Given the description of an element on the screen output the (x, y) to click on. 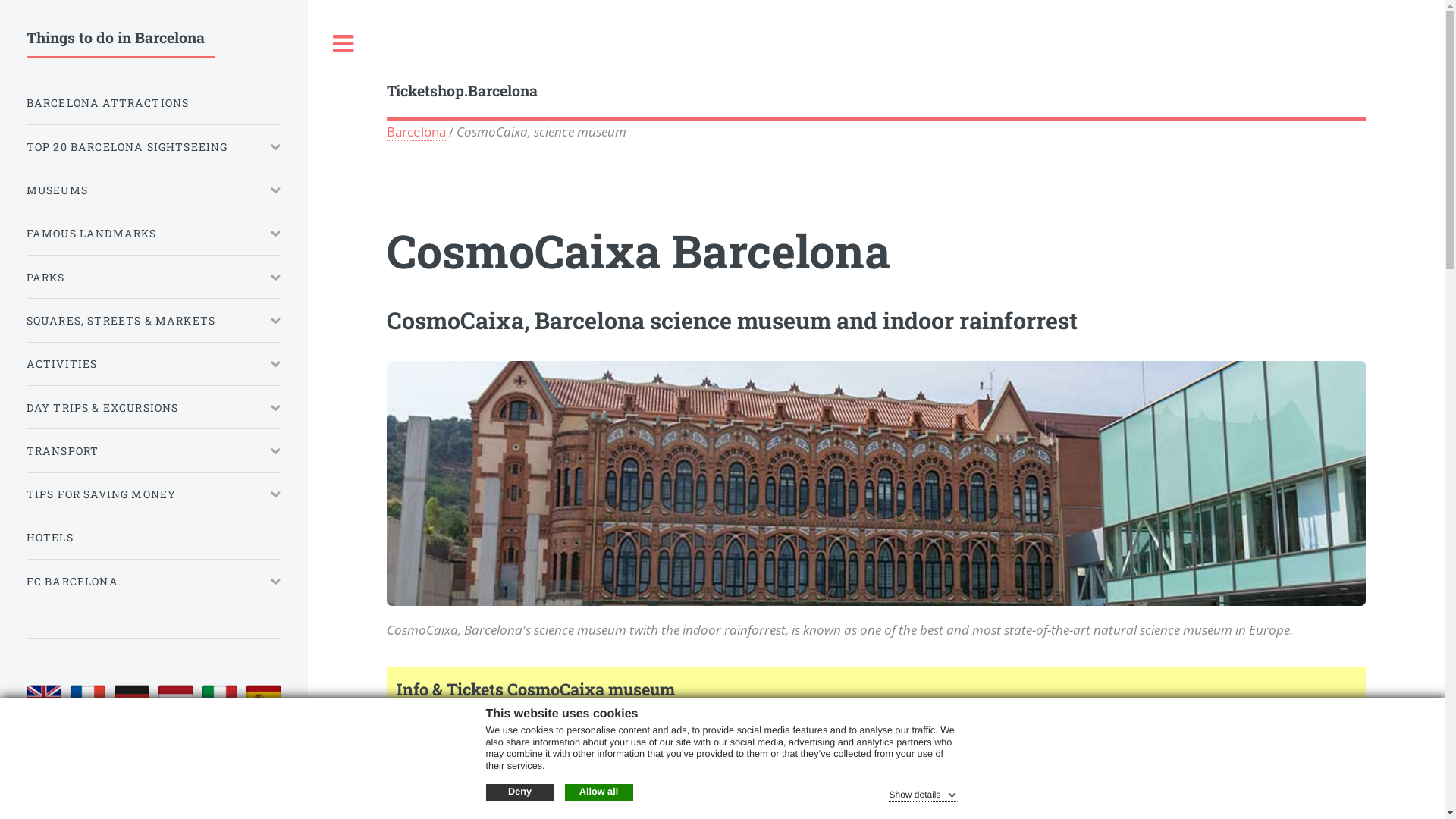
CosmoCaixa Element type: hover (219, 697)
Show details Element type: text (923, 792)
CosmoCaixa Barcelone Element type: hover (87, 697)
Barcelona Element type: text (415, 130)
Ticketshop.Barcelona Element type: text (875, 90)
HOTELS Element type: text (153, 537)
Toggle Element type: text (343, 44)
BARCELONA ATTRACTIONS Element type: text (153, 103)
tickets Element type: hover (263, 697)
CosmoCaixa Element type: hover (131, 697)
CosmoCaixa Barcelona Element type: hover (43, 697)
Metro Element type: text (415, 791)
Allow all Element type: text (598, 792)
Cosmocaixa Barcelona Element type: hover (875, 482)
Deny Element type: text (519, 792)
CosmoCaixa Barcelona Element type: hover (175, 697)
